Given the description of an element on the screen output the (x, y) to click on. 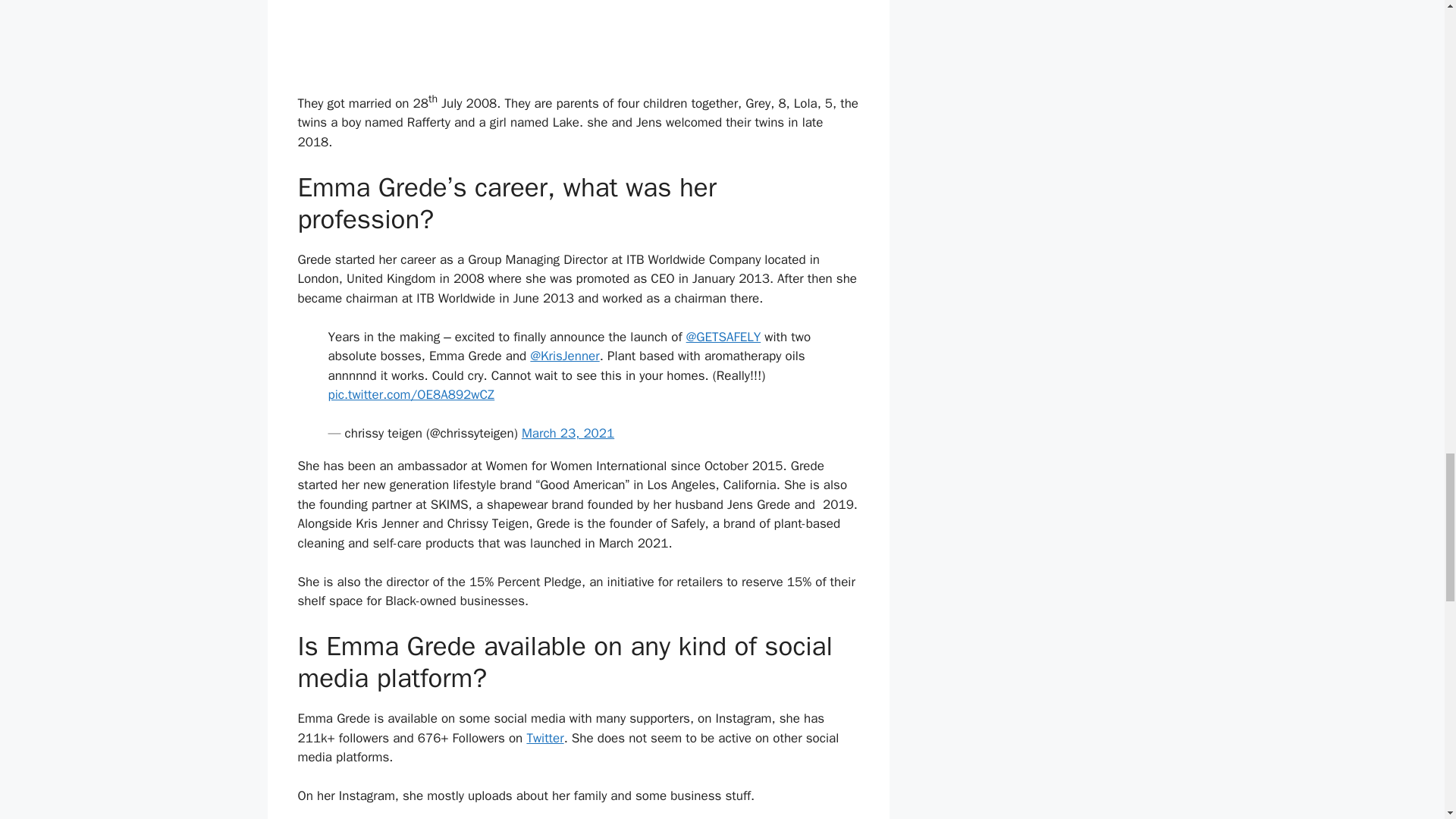
Twitter (544, 738)
March 23, 2021 (567, 433)
